Given the description of an element on the screen output the (x, y) to click on. 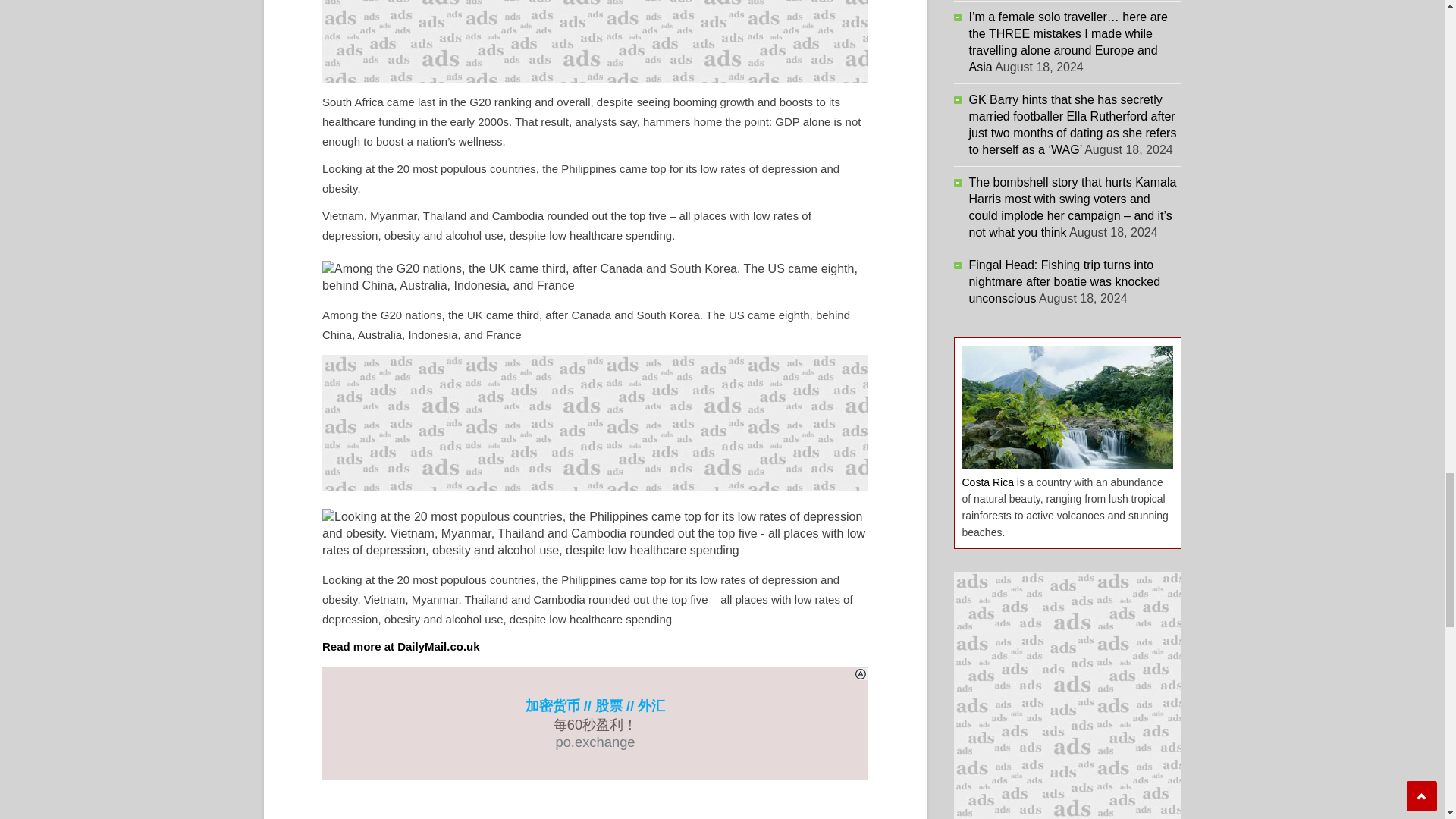
Read more at DailyMail.co.uk (400, 645)
Costa Rica (986, 481)
